Given the description of an element on the screen output the (x, y) to click on. 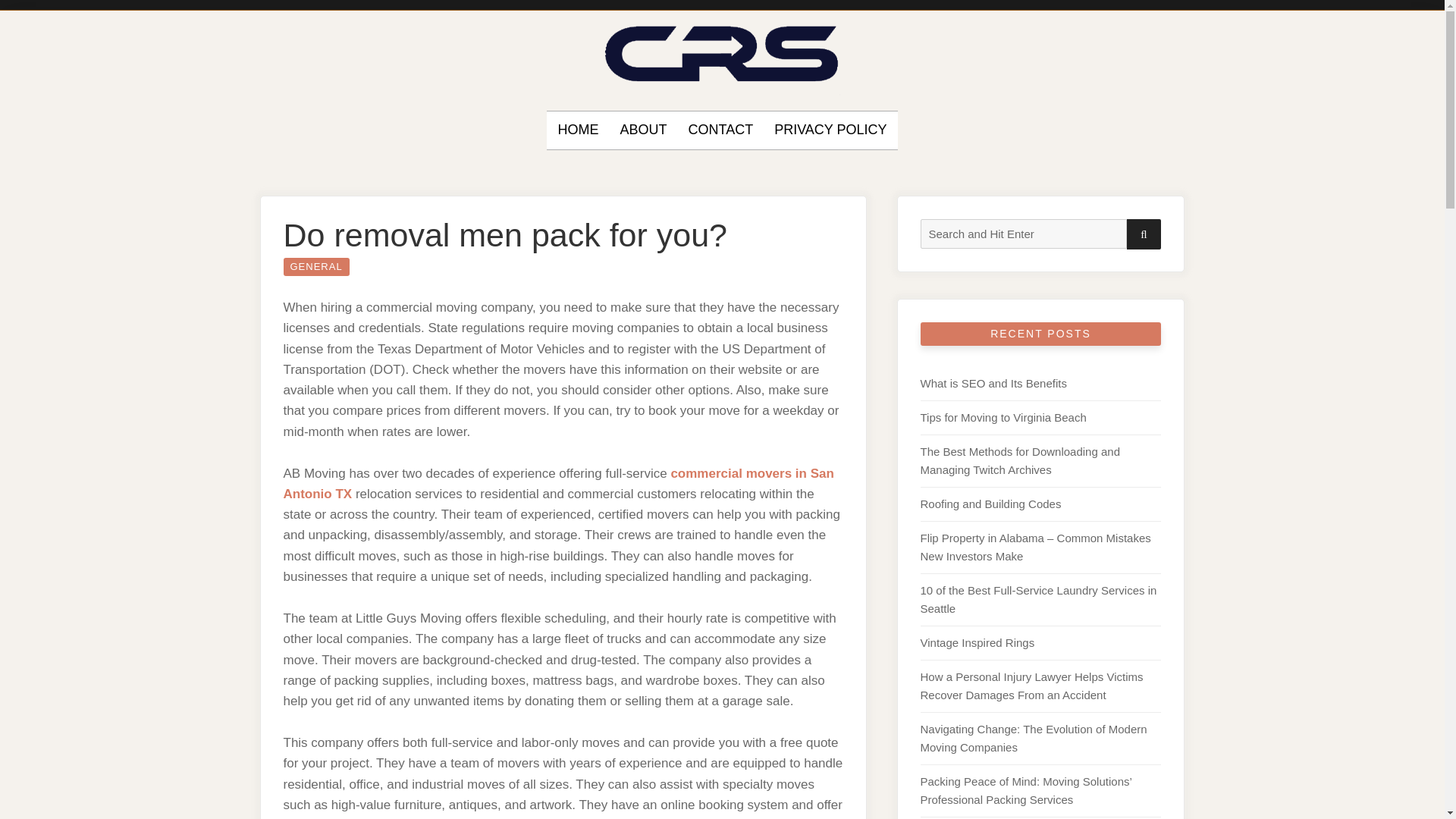
GENERAL (316, 266)
commercial movers in San Antonio TX (558, 483)
PRIVACY POLICY (830, 130)
10 of the Best Full-Service Laundry Services in Seattle (1038, 599)
What is SEO and Its Benefits (993, 382)
SEARCH (1143, 234)
CONTACT (719, 130)
ABOUT (643, 130)
Tips for Moving to Virginia Beach (1003, 417)
Roofing and Building Codes (990, 503)
Navigating Change: The Evolution of Modern Moving Companies (1033, 737)
Vintage Inspired Rings (977, 642)
HOME (577, 130)
